Given the description of an element on the screen output the (x, y) to click on. 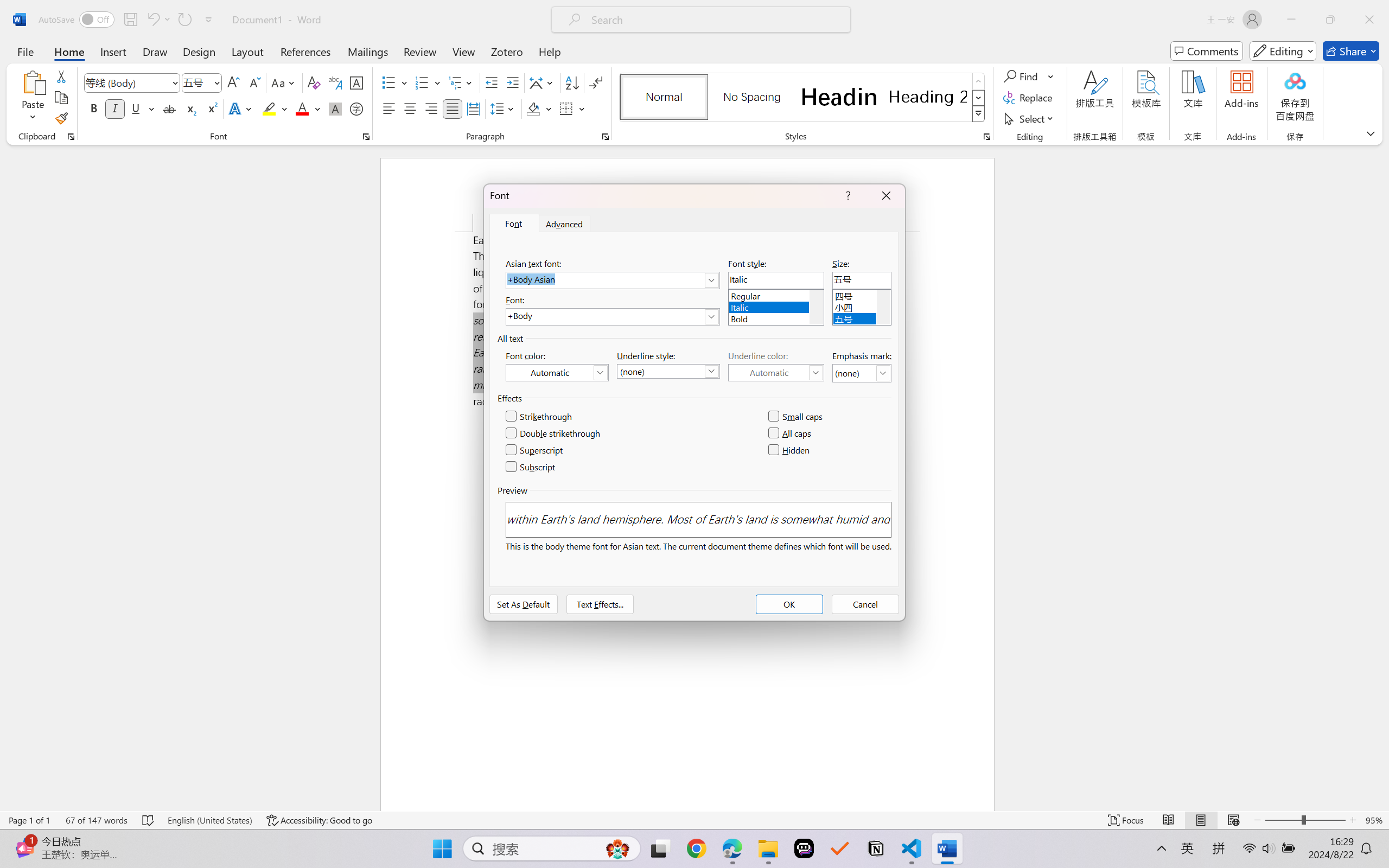
All caps (790, 433)
Advanced (564, 223)
Superscript (535, 450)
Help (549, 51)
Text Highlight Color Yellow (269, 108)
Set As Default (523, 603)
Text Effects and Typography (241, 108)
